Given the description of an element on the screen output the (x, y) to click on. 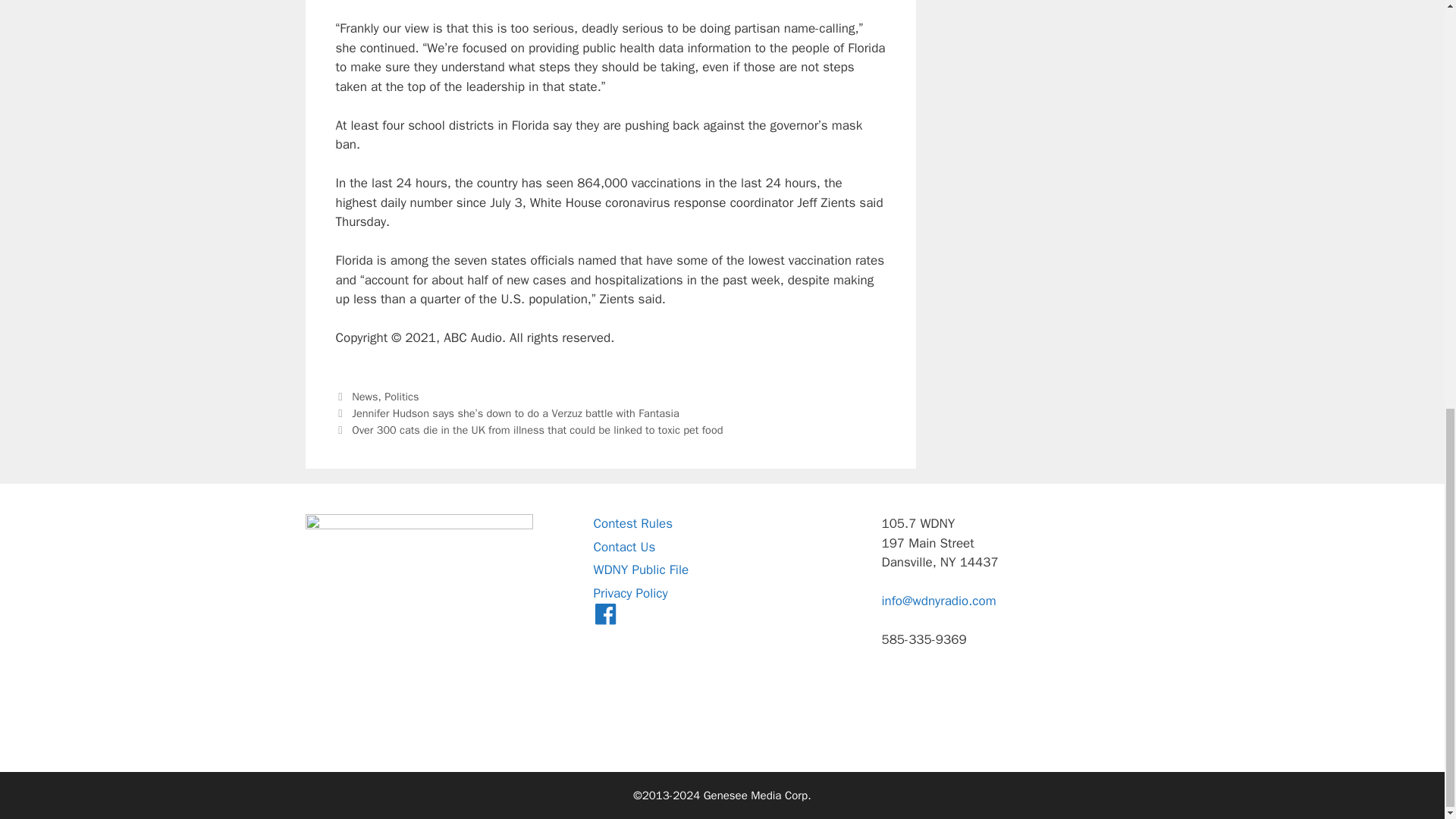
Contact Us (623, 546)
Politics (401, 396)
Contest Rules (632, 523)
News (364, 396)
Privacy Policy (629, 593)
Menu Item (605, 616)
WDNY Public File (640, 569)
